Given the description of an element on the screen output the (x, y) to click on. 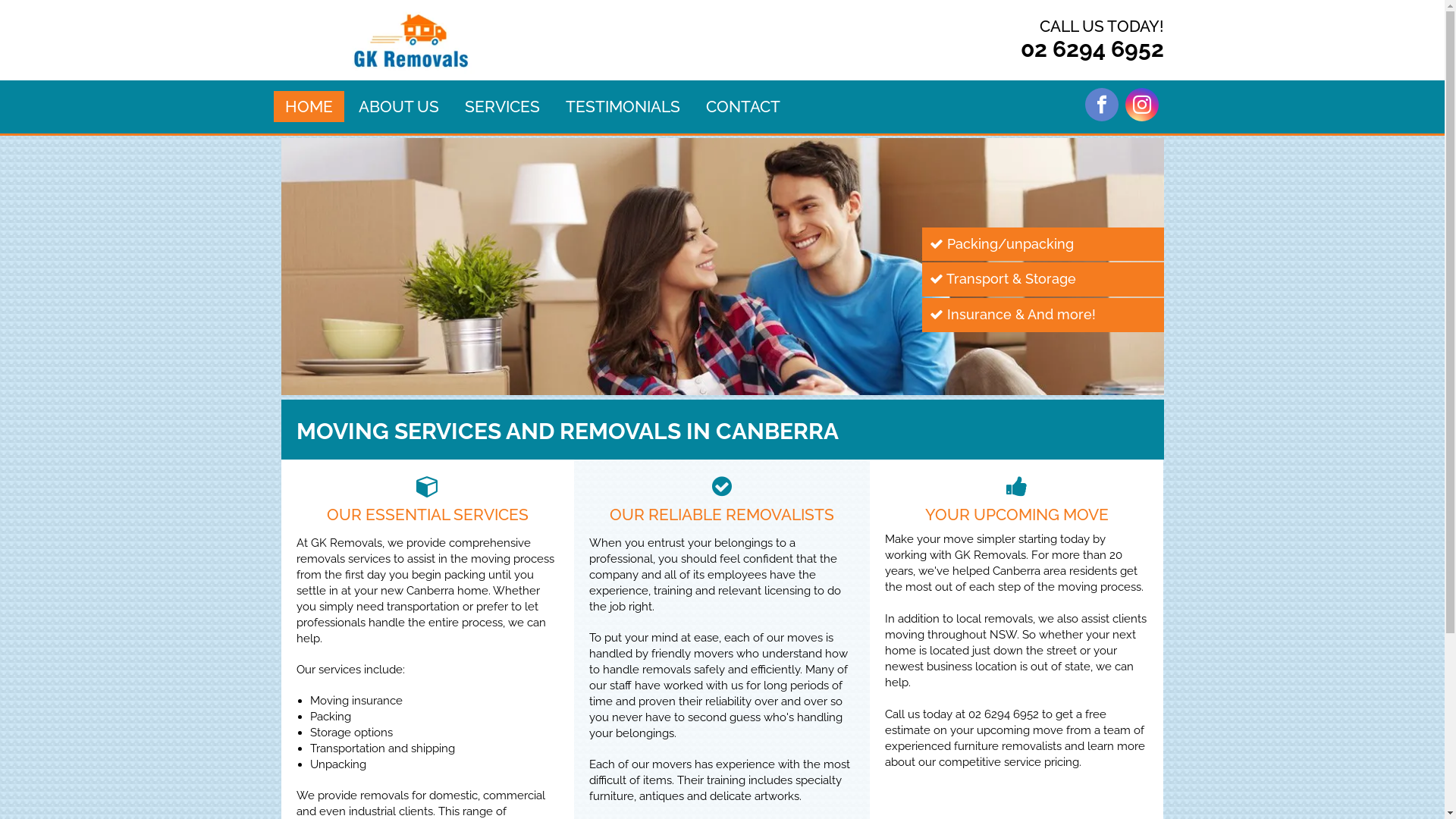
gk removals couples smiles in front of the packages Element type: hover (721, 266)
SERVICES Element type: text (501, 106)
02 6294 6952 Element type: text (1092, 48)
HOME Element type: text (308, 106)
ABOUT US Element type: text (397, 106)
CONTACT Element type: text (742, 106)
gk removals logo Element type: hover (410, 40)
TESTIMONIALS Element type: text (622, 106)
